Given the description of an element on the screen output the (x, y) to click on. 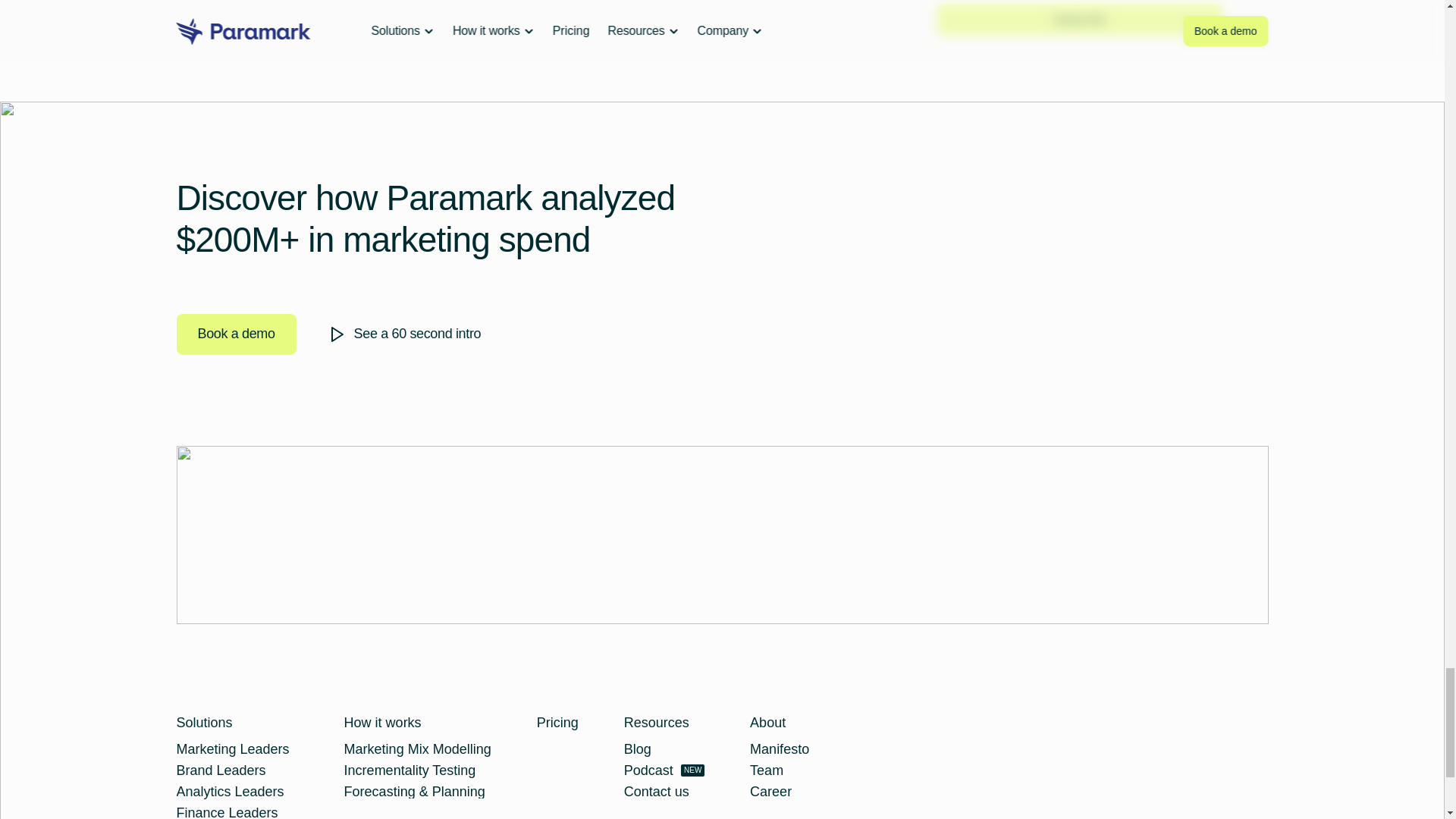
Finance Leaders (227, 812)
Analytics Leaders (229, 791)
Contact us (656, 791)
Book a demo (235, 333)
Marketing Mix Modelling (417, 749)
Career (664, 770)
Brand Leaders (770, 791)
Marketing Leaders (220, 770)
Manifesto (232, 749)
Pricing (779, 749)
Team (557, 722)
Incrementality Testing (766, 770)
Blog (409, 770)
